Given the description of an element on the screen output the (x, y) to click on. 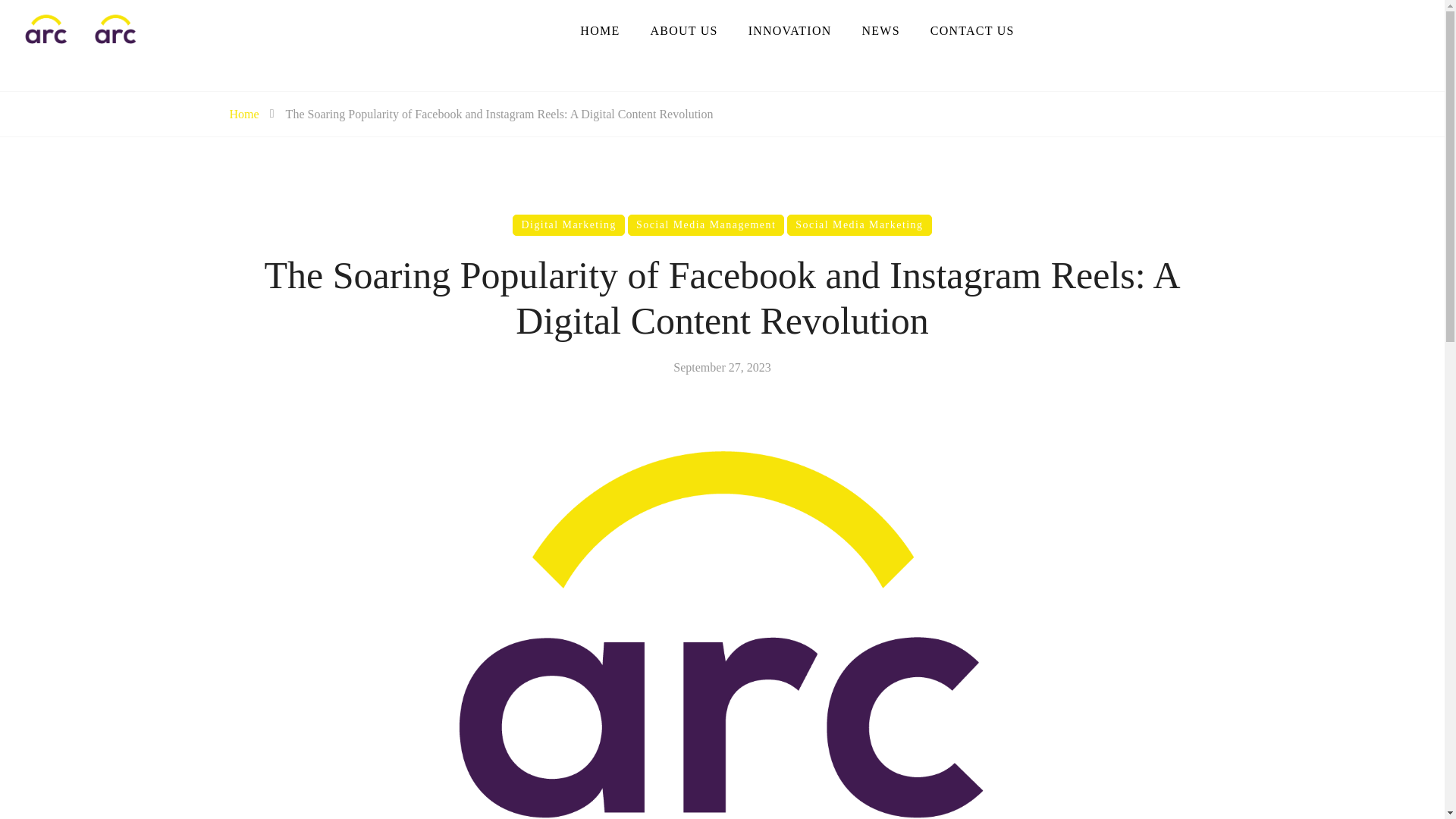
ABOUT US (683, 30)
CONTACT US (972, 30)
Social Media Marketing (858, 225)
NEWS (880, 30)
HOME (599, 30)
Digital Marketing (568, 225)
Home (243, 113)
Social Media Management (705, 225)
INNOVATION (789, 30)
